Given the description of an element on the screen output the (x, y) to click on. 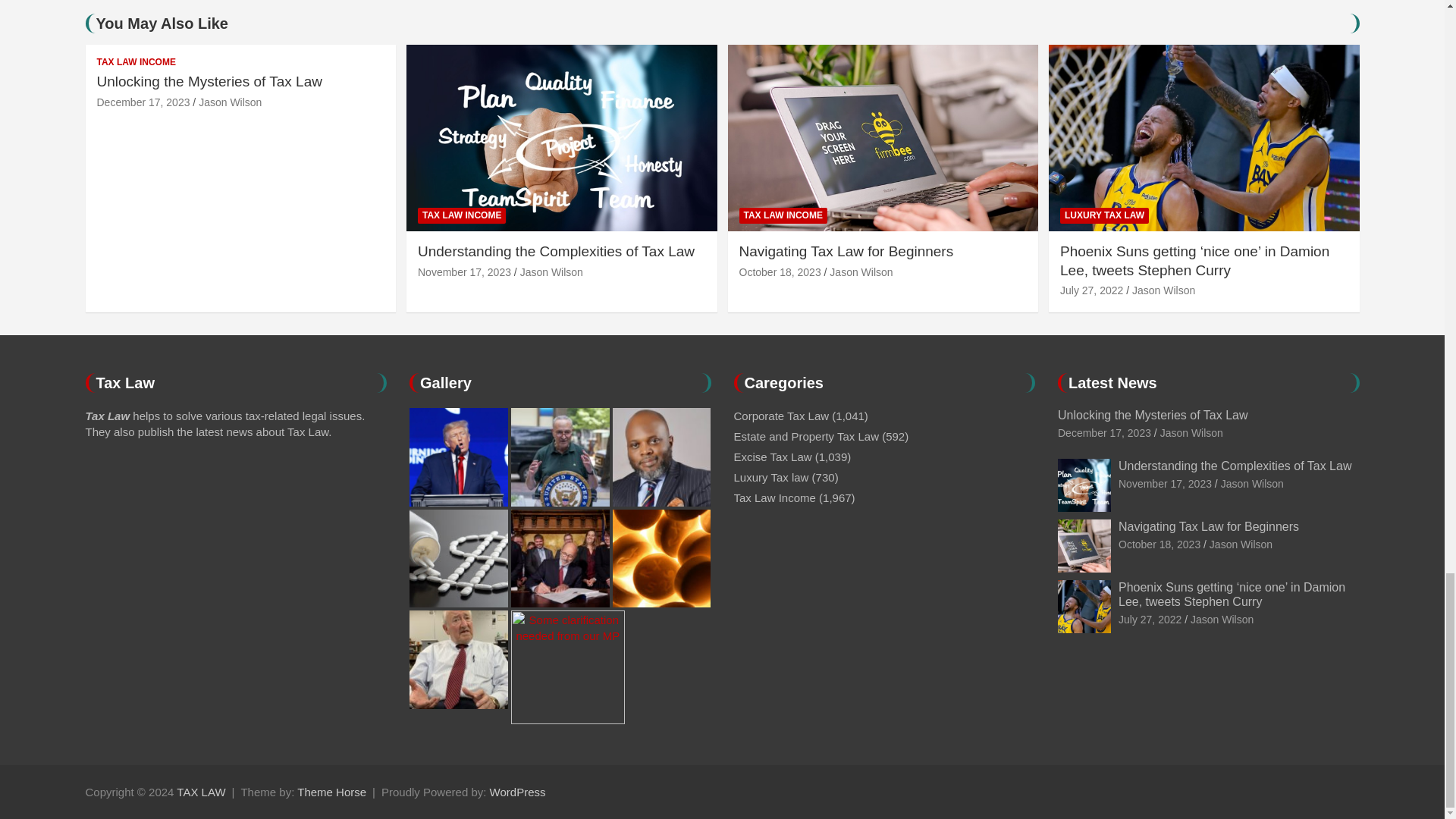
Navigating Tax Law for Beginners (779, 272)
TAX LAW (200, 791)
Understanding the Complexities of Tax Law (464, 272)
Understanding the Complexities of Tax Law (1164, 483)
Theme Horse (331, 791)
Unlocking the Mysteries of Tax Law (1104, 432)
Navigating Tax Law for Beginners (1158, 544)
Unlocking the Mysteries of Tax Law (143, 102)
WordPress (517, 791)
